Given the description of an element on the screen output the (x, y) to click on. 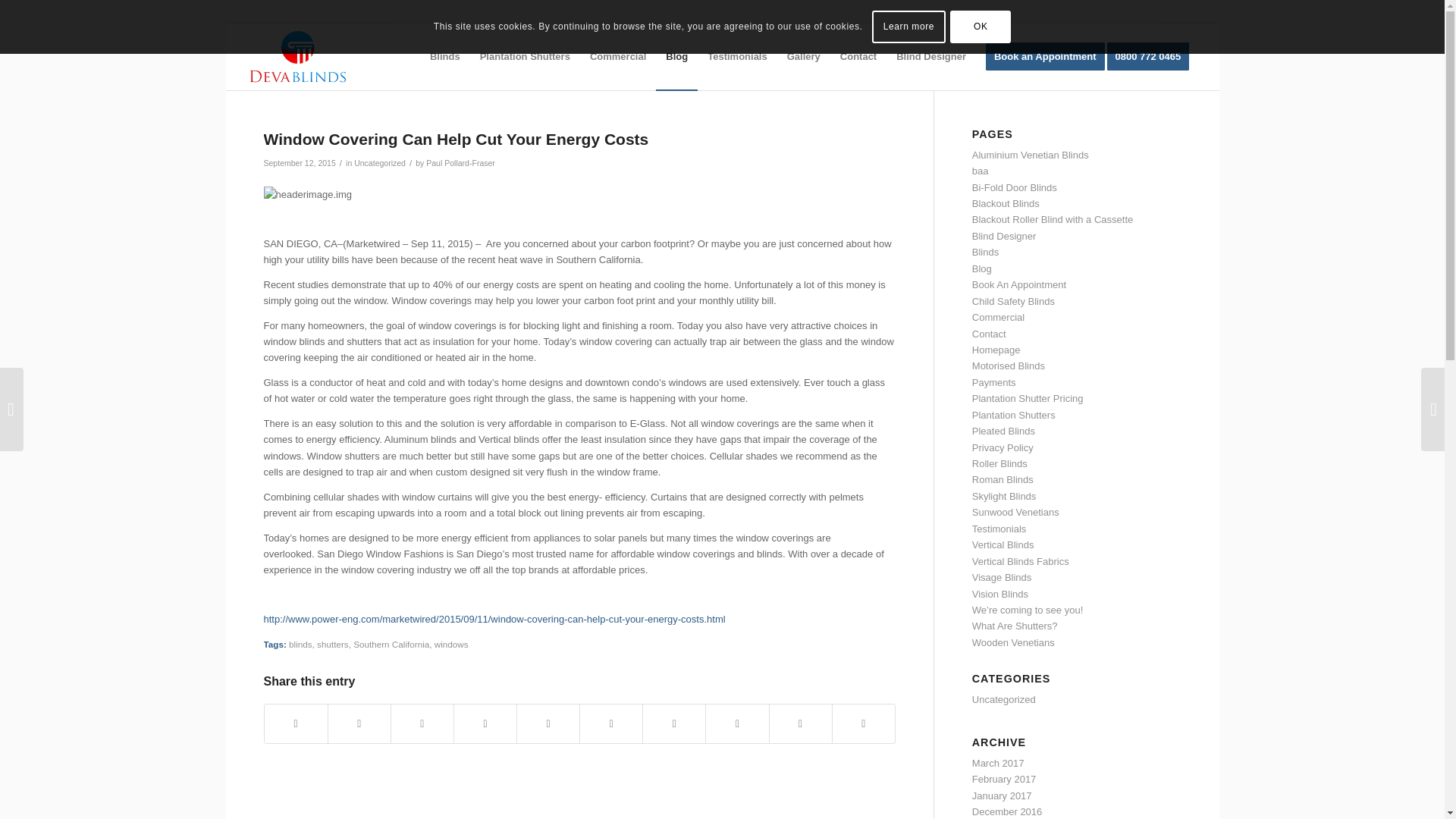
Plantation Shutters (524, 56)
Southern California (391, 644)
Paul Pollard-Fraser (460, 162)
blinds (300, 644)
shutters (333, 644)
devablindslogo-2 (299, 56)
Testimonials (737, 56)
Uncategorized (379, 162)
windows (450, 644)
Commercial (617, 56)
Posts by Paul Pollard-Fraser (460, 162)
Blind Designer (930, 56)
